Given the description of an element on the screen output the (x, y) to click on. 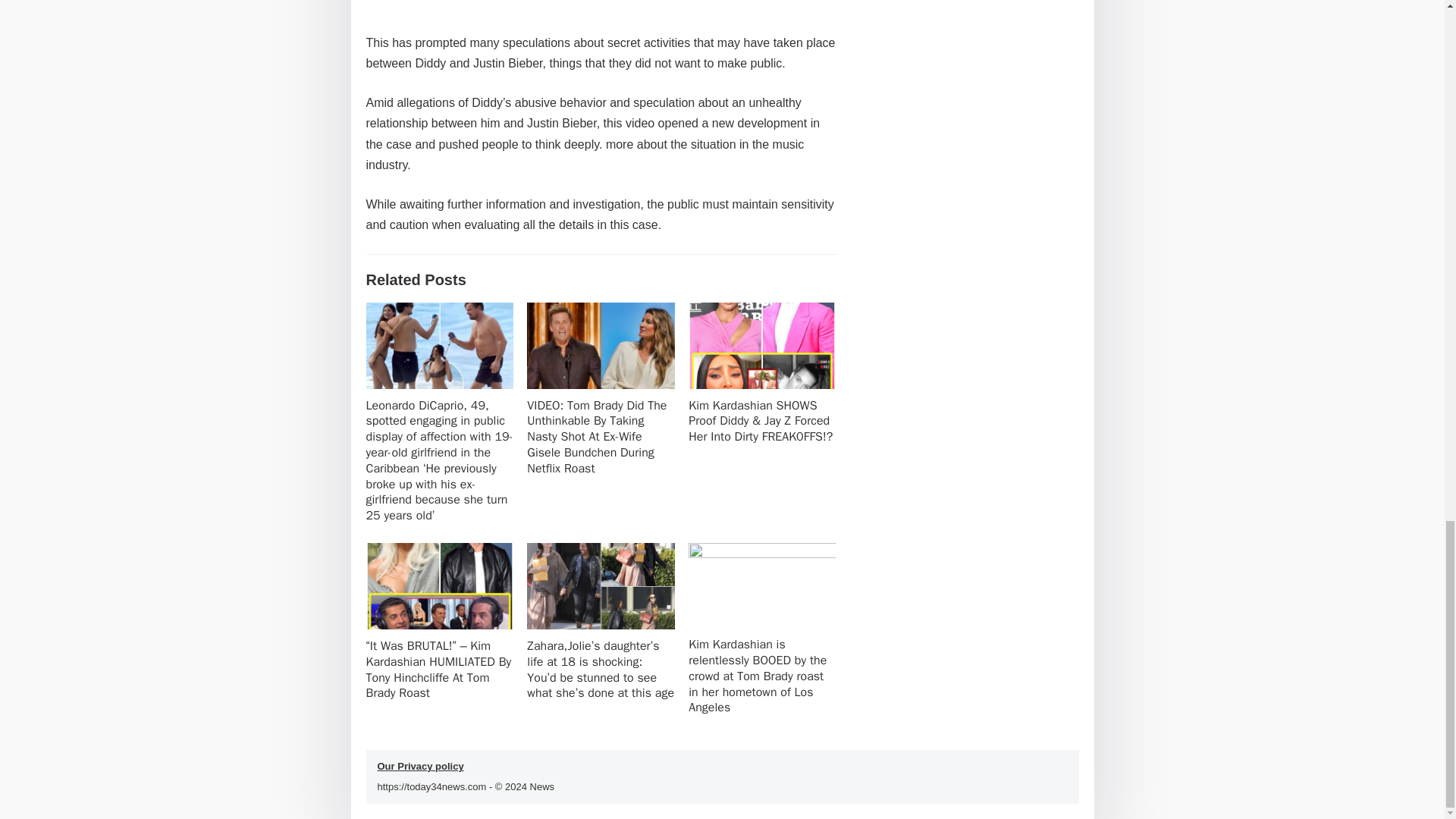
SHOCKING: Diddy's Stark Warning to Justin Bieber Revealed! (600, 3)
Our Privacy policy (420, 766)
